Given the description of an element on the screen output the (x, y) to click on. 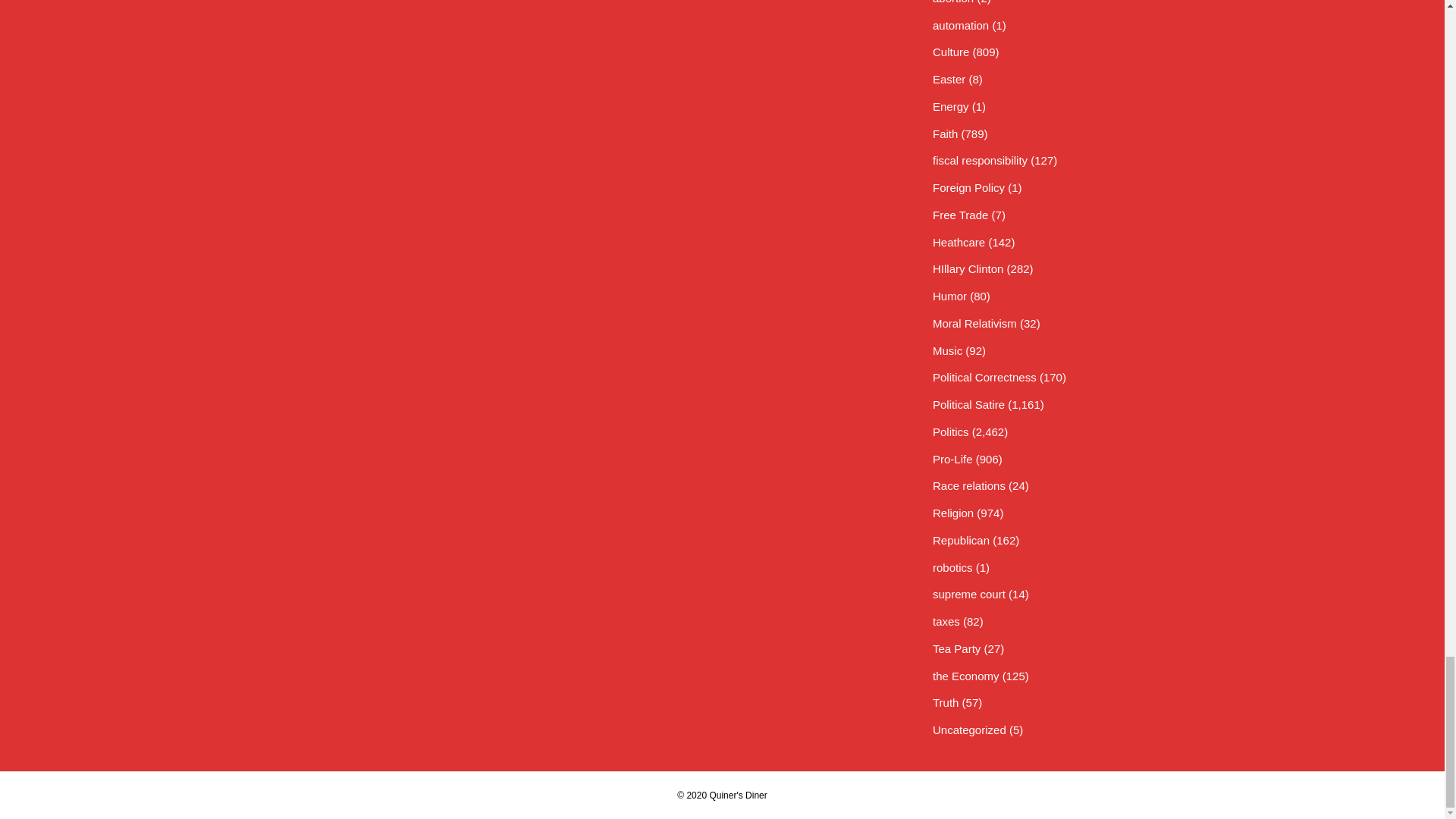
Heathcare (959, 241)
automation (960, 24)
fiscal responsibility (980, 160)
Foreign Policy (968, 187)
Culture (951, 51)
Energy (951, 106)
Faith (945, 133)
Free Trade (960, 214)
Easter (949, 78)
abortion (953, 2)
